Given the description of an element on the screen output the (x, y) to click on. 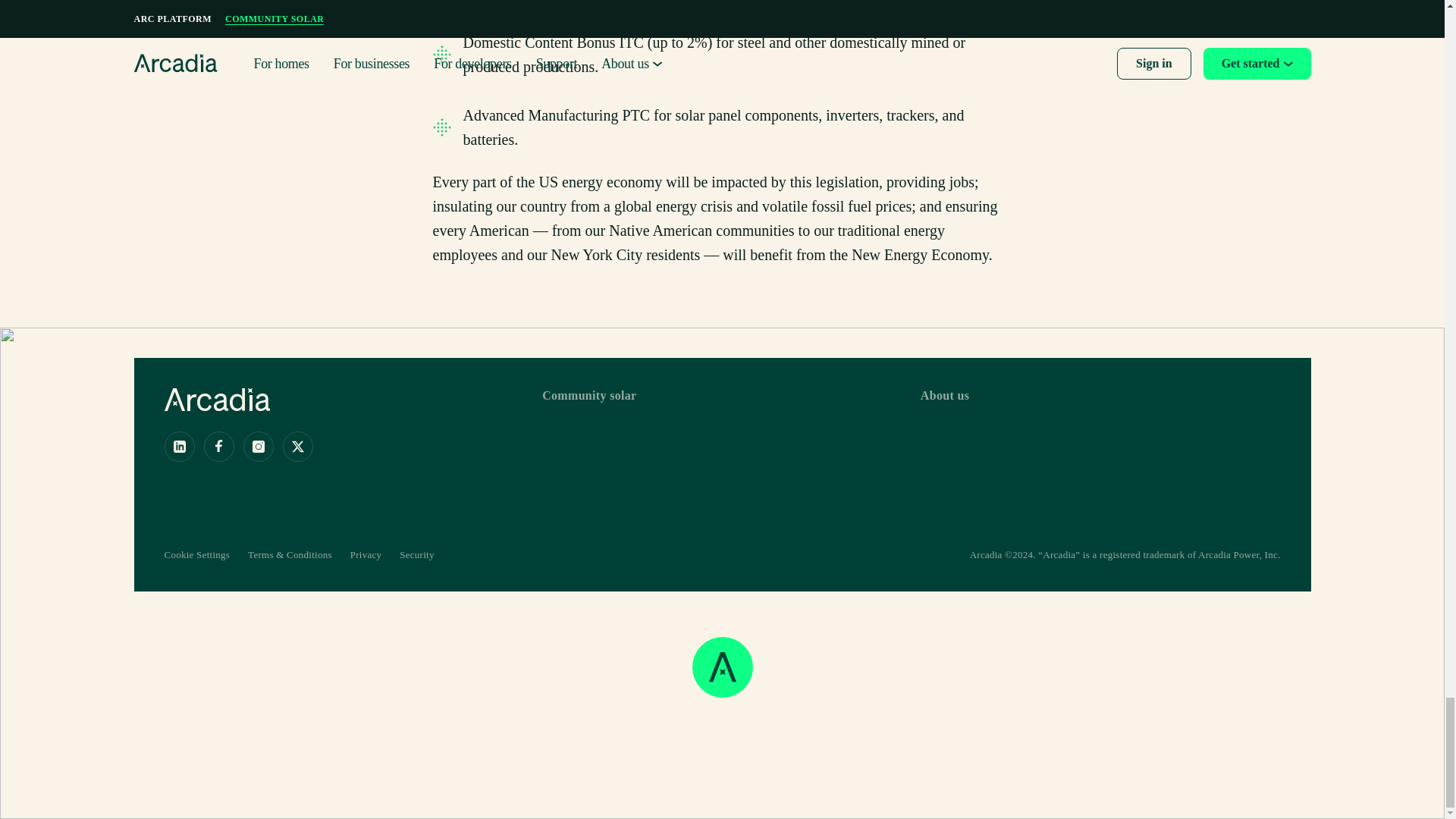
Cookie Settings (196, 554)
Security (415, 554)
Privacy (365, 554)
